Given the description of an element on the screen output the (x, y) to click on. 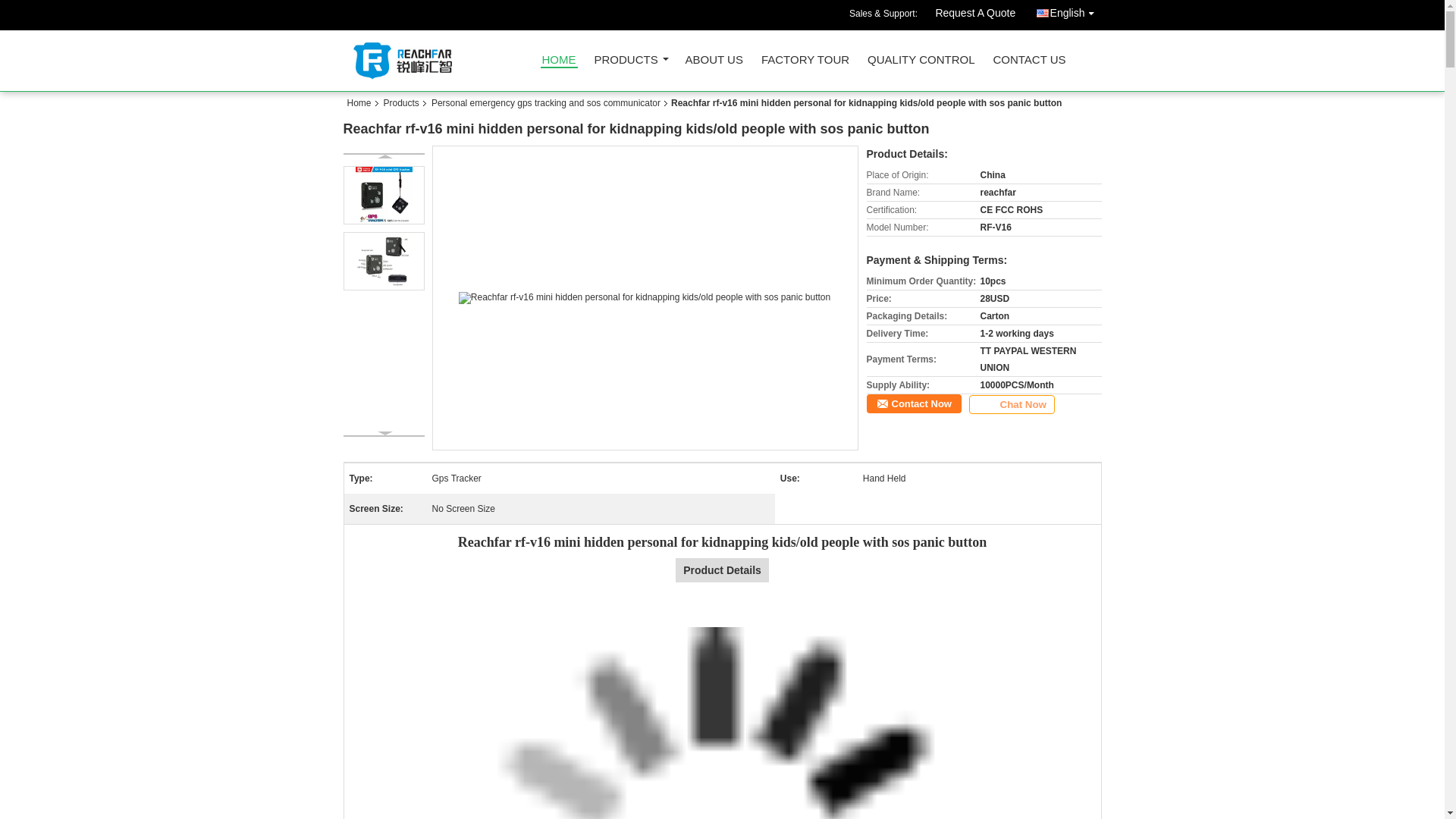
Home (362, 102)
CONTACT US (1029, 63)
HOME (558, 60)
Products (401, 102)
Request A Quote (974, 15)
Chat Now (1011, 404)
English (1067, 11)
Personal emergency gps tracking and sos communicator (545, 102)
ABOUT US (714, 63)
PRODUCTS (630, 63)
FACTORY TOUR (805, 63)
Contact Now (913, 403)
QUALITY CONTROL (920, 63)
